Given the description of an element on the screen output the (x, y) to click on. 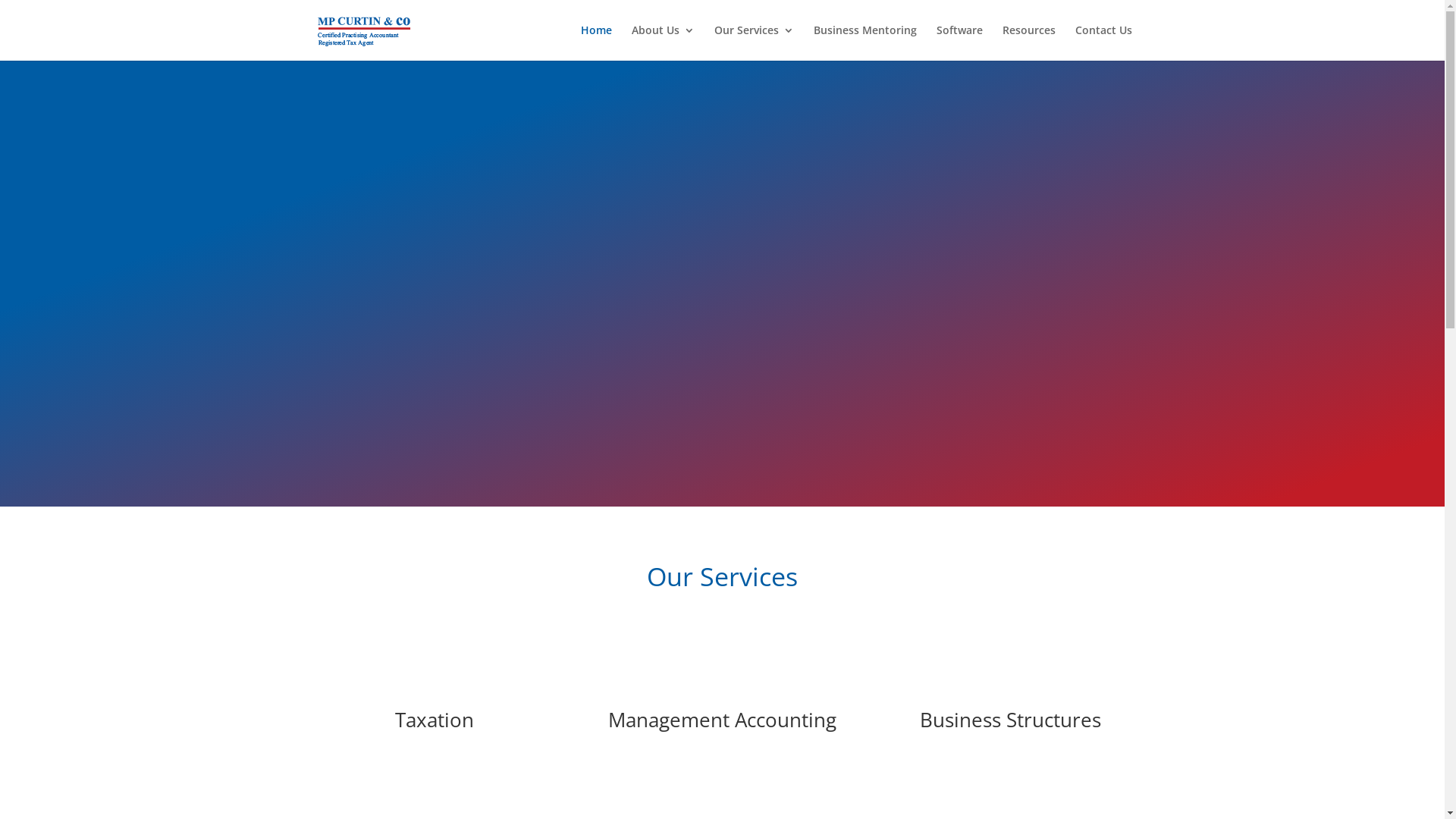
Resources Element type: text (1028, 42)
Contact Us Element type: text (1103, 42)
Our Services Element type: text (753, 42)
About Us Element type: text (661, 42)
Taxation Element type: text (434, 719)
Software Element type: text (958, 42)
Home Element type: text (595, 42)
Business Mentoring Element type: text (864, 42)
Business Structures Element type: text (1010, 719)
Management Accounting Element type: text (722, 719)
